Given the description of an element on the screen output the (x, y) to click on. 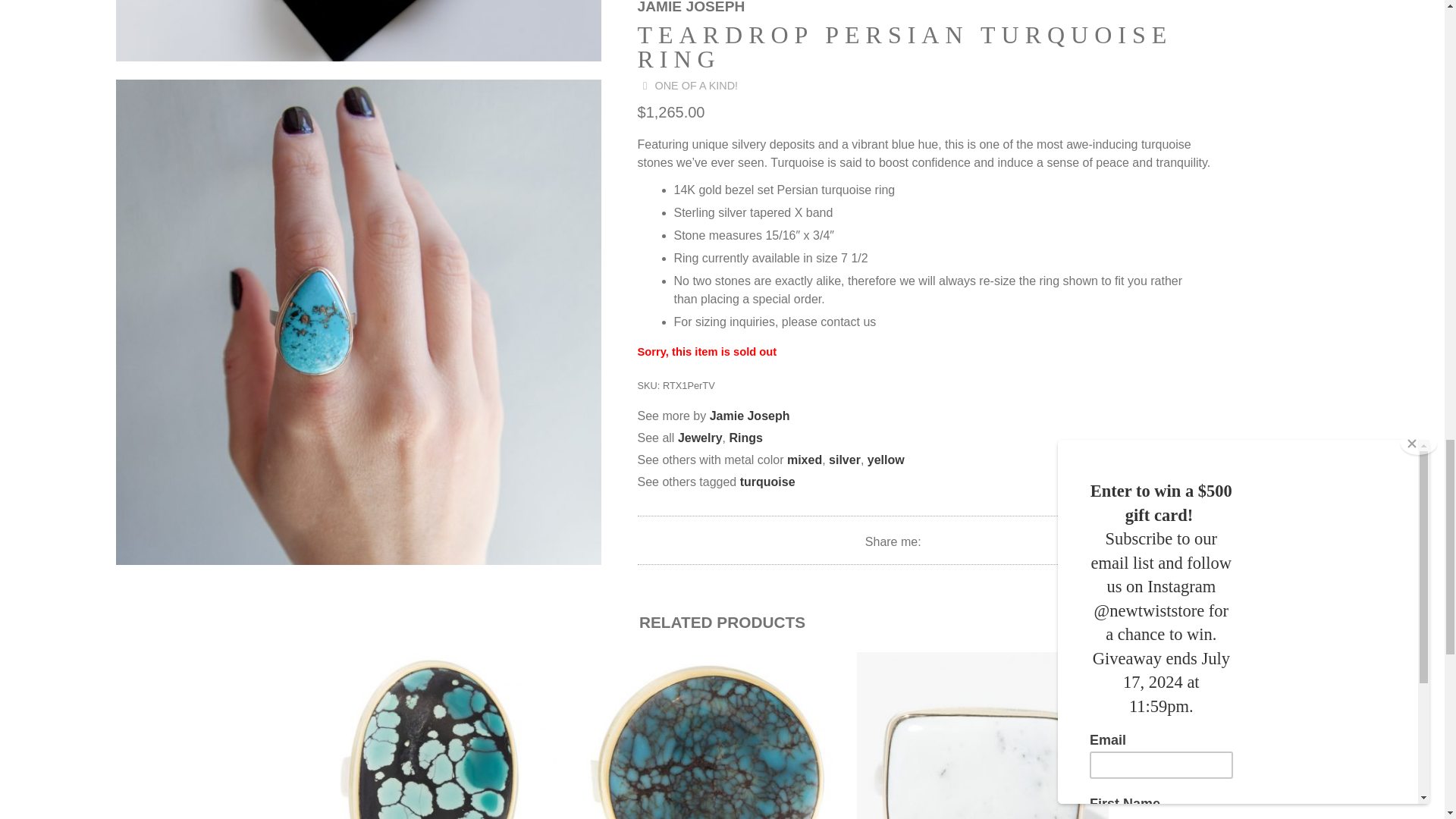
0614 Jamie Joseph 3rd-4 (357, 30)
